Given the description of an element on the screen output the (x, y) to click on. 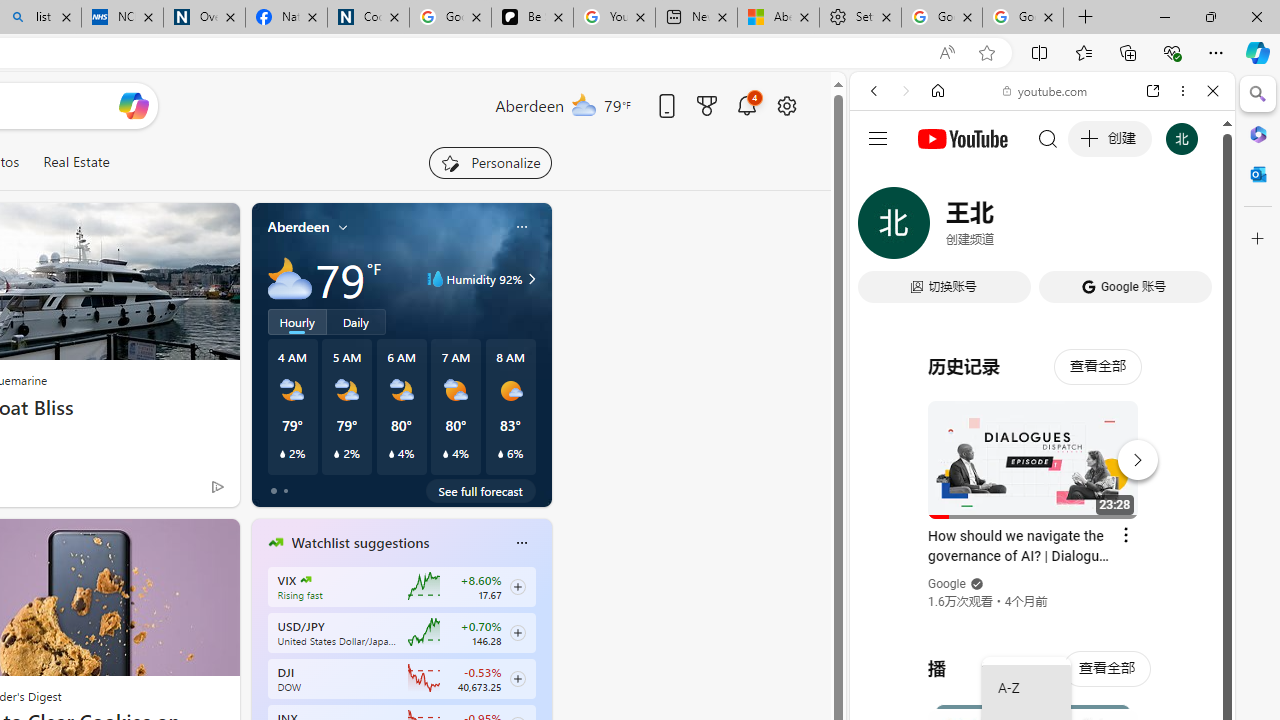
SEARCH TOOLS (1093, 228)
Search Filter, WEB (882, 228)
Personalize your feed" (489, 162)
Search Filter, Search Tools (1093, 228)
Aberdeen, Hong Kong SAR hourly forecast | Microsoft Weather (778, 17)
Search Filter, IMAGES (939, 228)
